Given the description of an element on the screen output the (x, y) to click on. 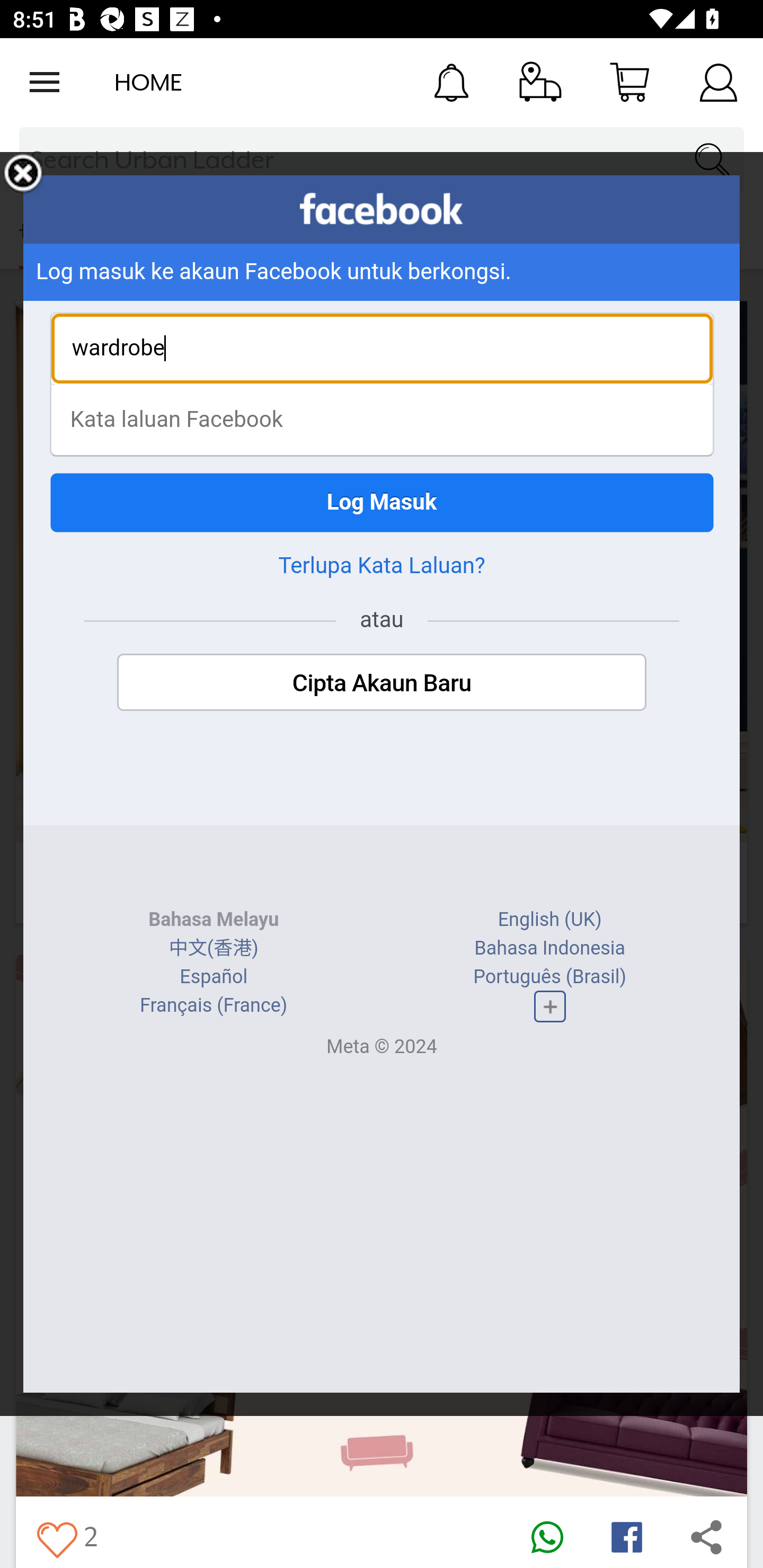
facebook (381, 208)
wardrobe (381, 348)
Log Masuk (381, 502)
Terlupa Kata Laluan? (381, 564)
Cipta Akaun Baru (381, 681)
English (UK) (549, 919)
中文(香港) (212, 947)
Bahasa Indonesia (549, 947)
Español (213, 977)
Português (Brasil) (550, 977)
Senarai lengkap bahasa (548, 1006)
Français (France) (213, 1005)
